Given the description of an element on the screen output the (x, y) to click on. 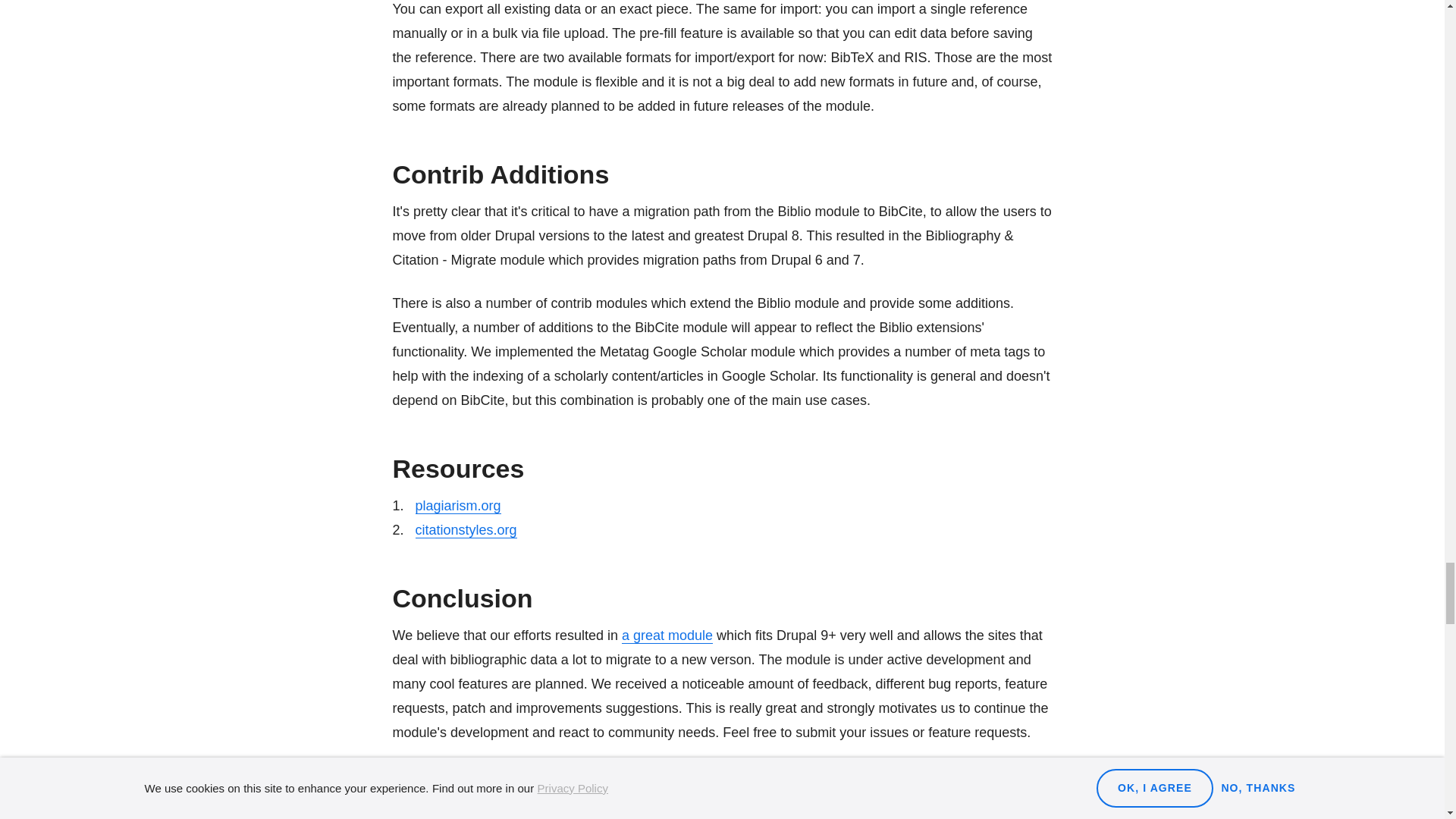
citationstyles.org (465, 530)
plagiarism.org (457, 505)
CONTACT US (448, 776)
a great module (667, 635)
